Given the description of an element on the screen output the (x, y) to click on. 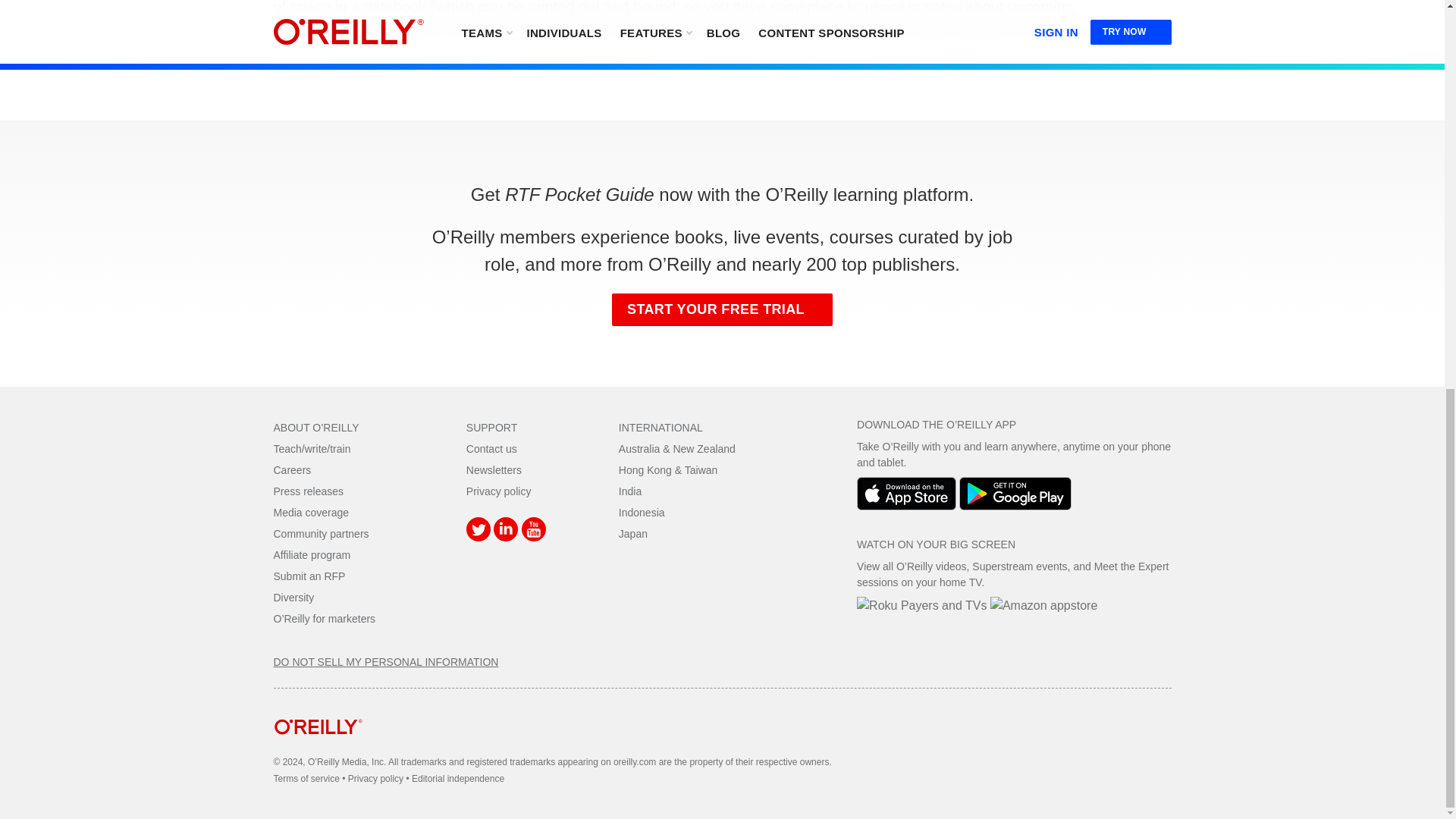
Contact us (490, 449)
Submit an RFP (309, 576)
A Datebook Generator (721, 20)
START YOUR FREE TRIAL (721, 309)
home page (317, 745)
Newsletters (493, 469)
SUPPORT (490, 427)
Press releases (308, 491)
Careers (292, 469)
